Given the description of an element on the screen output the (x, y) to click on. 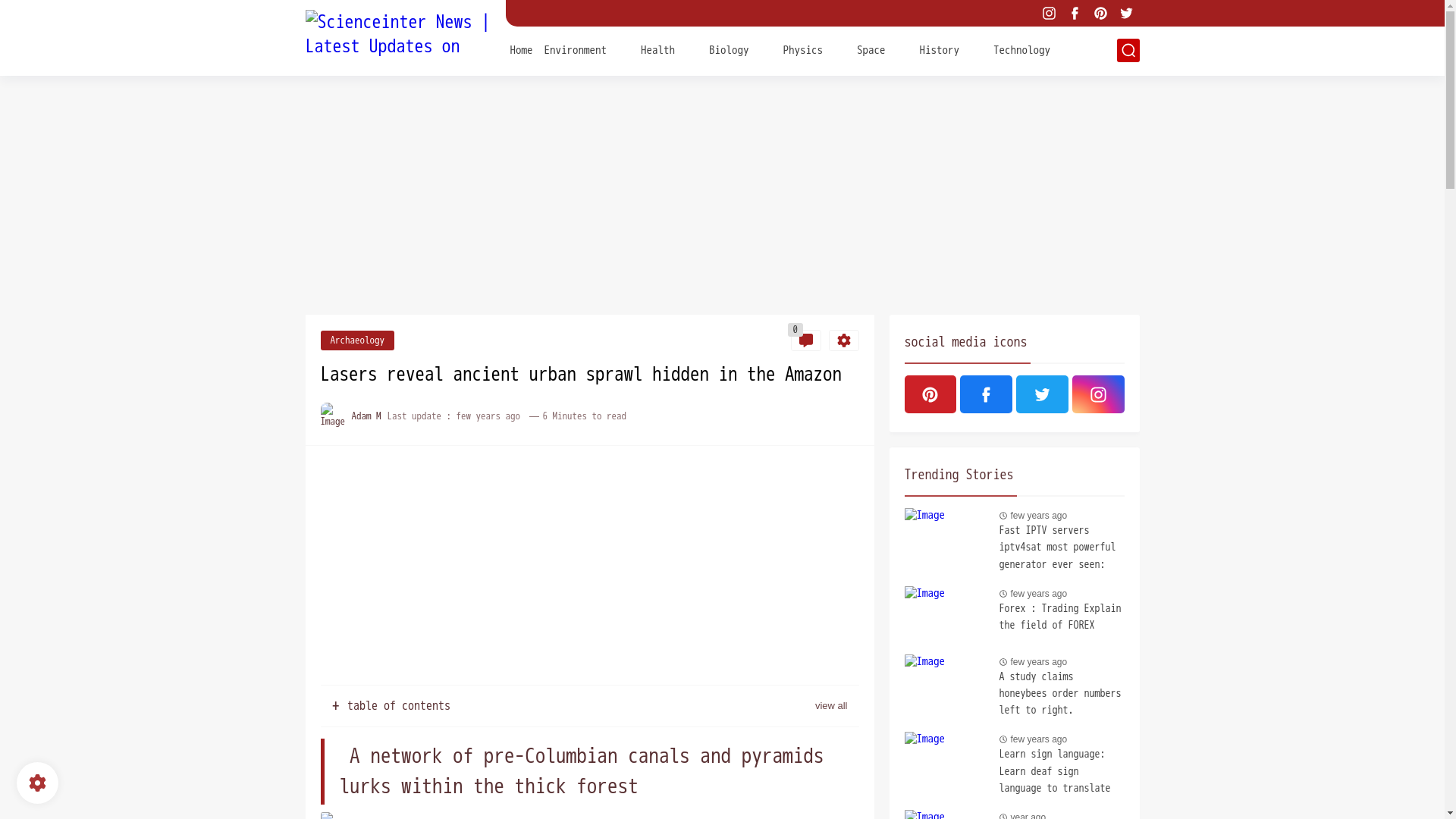
Physics (802, 49)
Space (871, 49)
History (938, 49)
Archaeology (357, 340)
Biology (729, 49)
Environment (575, 49)
Home (520, 49)
Home (520, 49)
Technology (1020, 49)
Environment (575, 49)
